Given the description of an element on the screen output the (x, y) to click on. 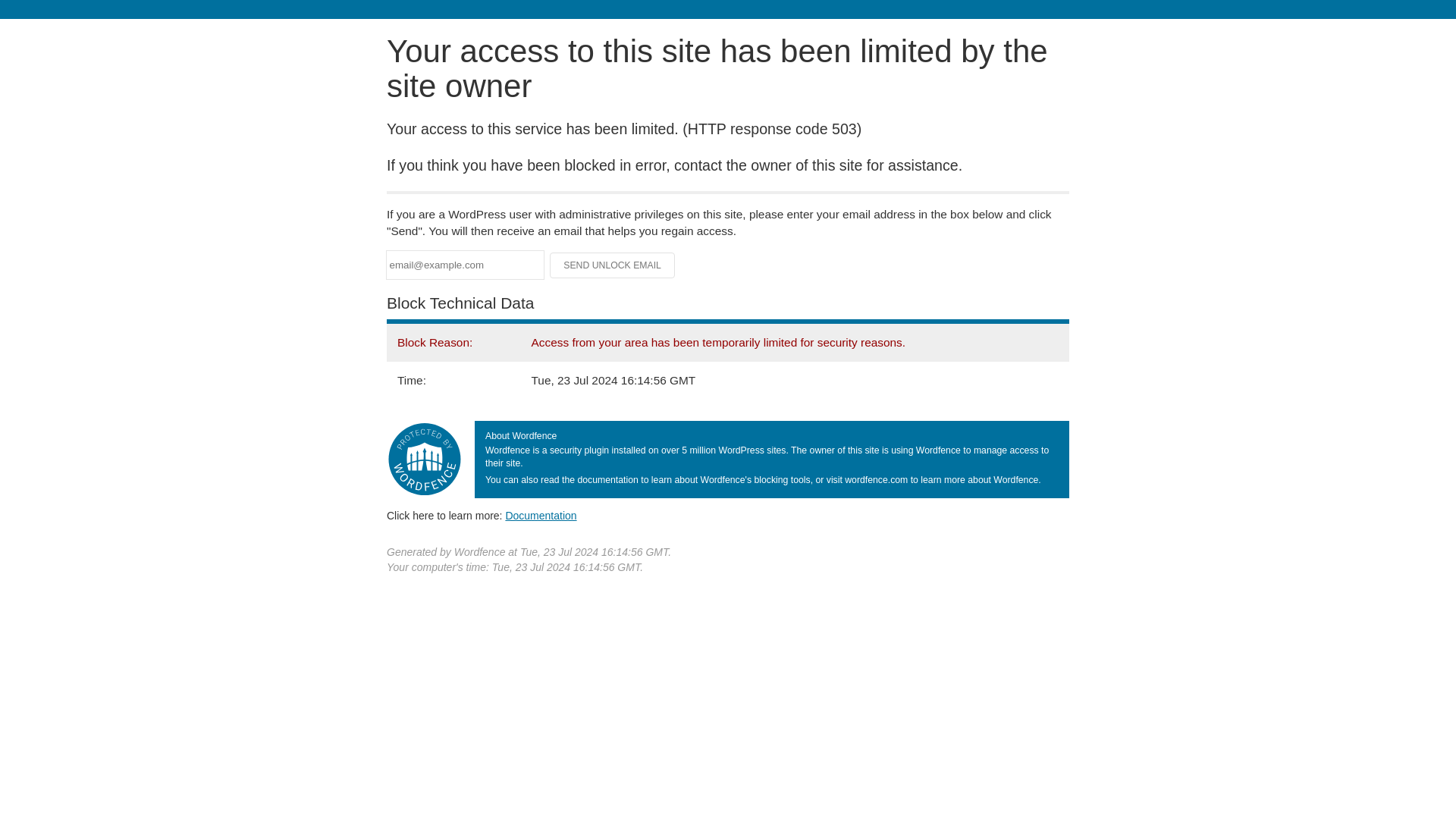
Send Unlock Email (612, 265)
Documentation (540, 515)
Send Unlock Email (612, 265)
